Given the description of an element on the screen output the (x, y) to click on. 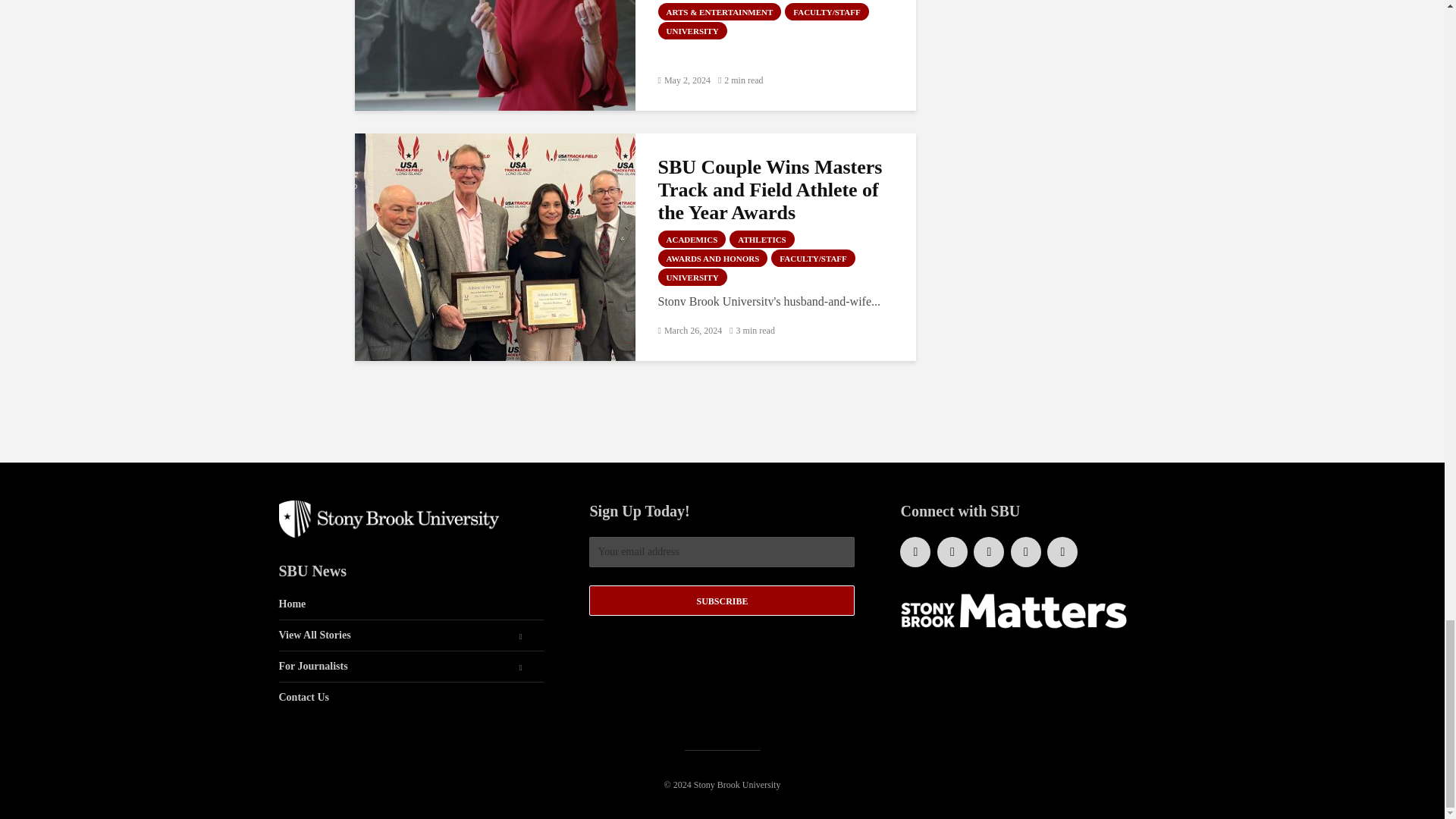
Subscribe (721, 600)
